Given the description of an element on the screen output the (x, y) to click on. 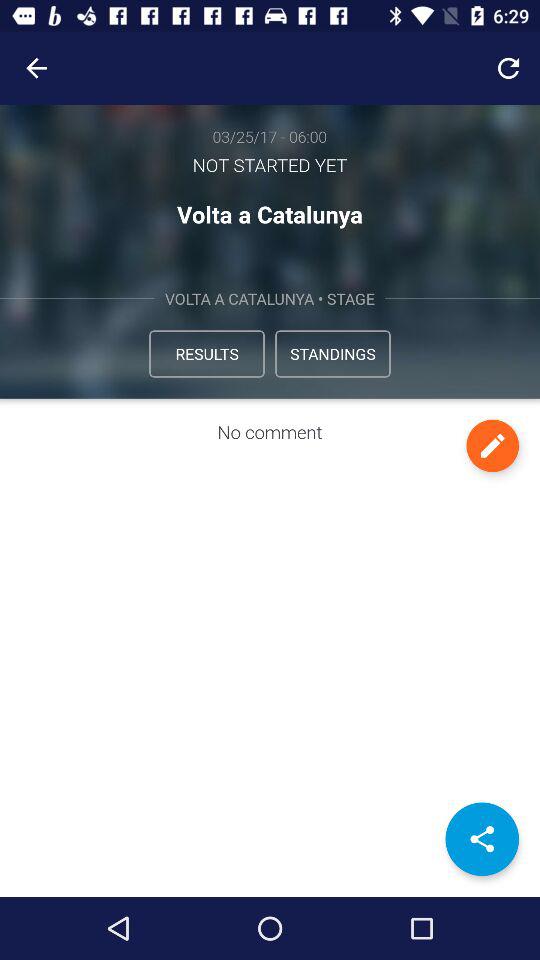
open the icon to the right of the results icon (332, 353)
